Given the description of an element on the screen output the (x, y) to click on. 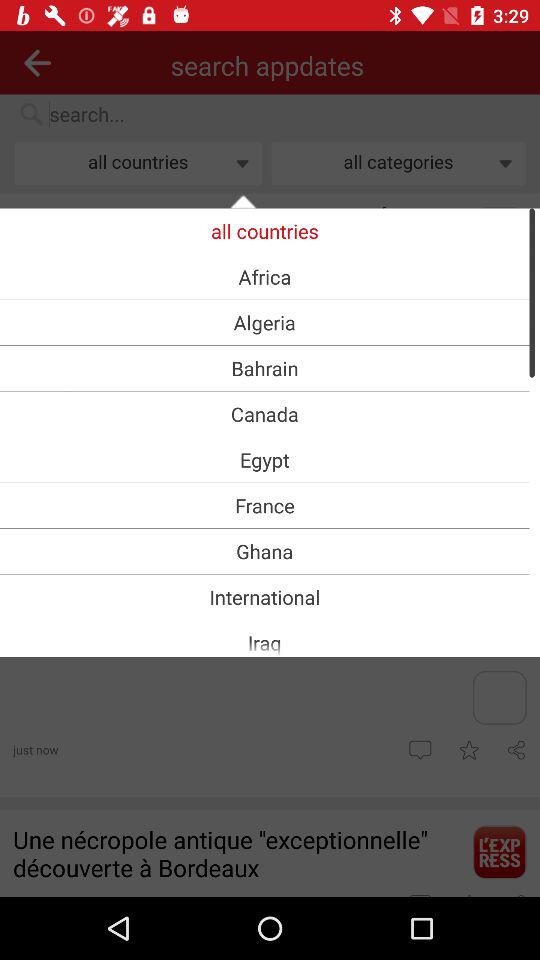
tap the africa item (264, 276)
